Given the description of an element on the screen output the (x, y) to click on. 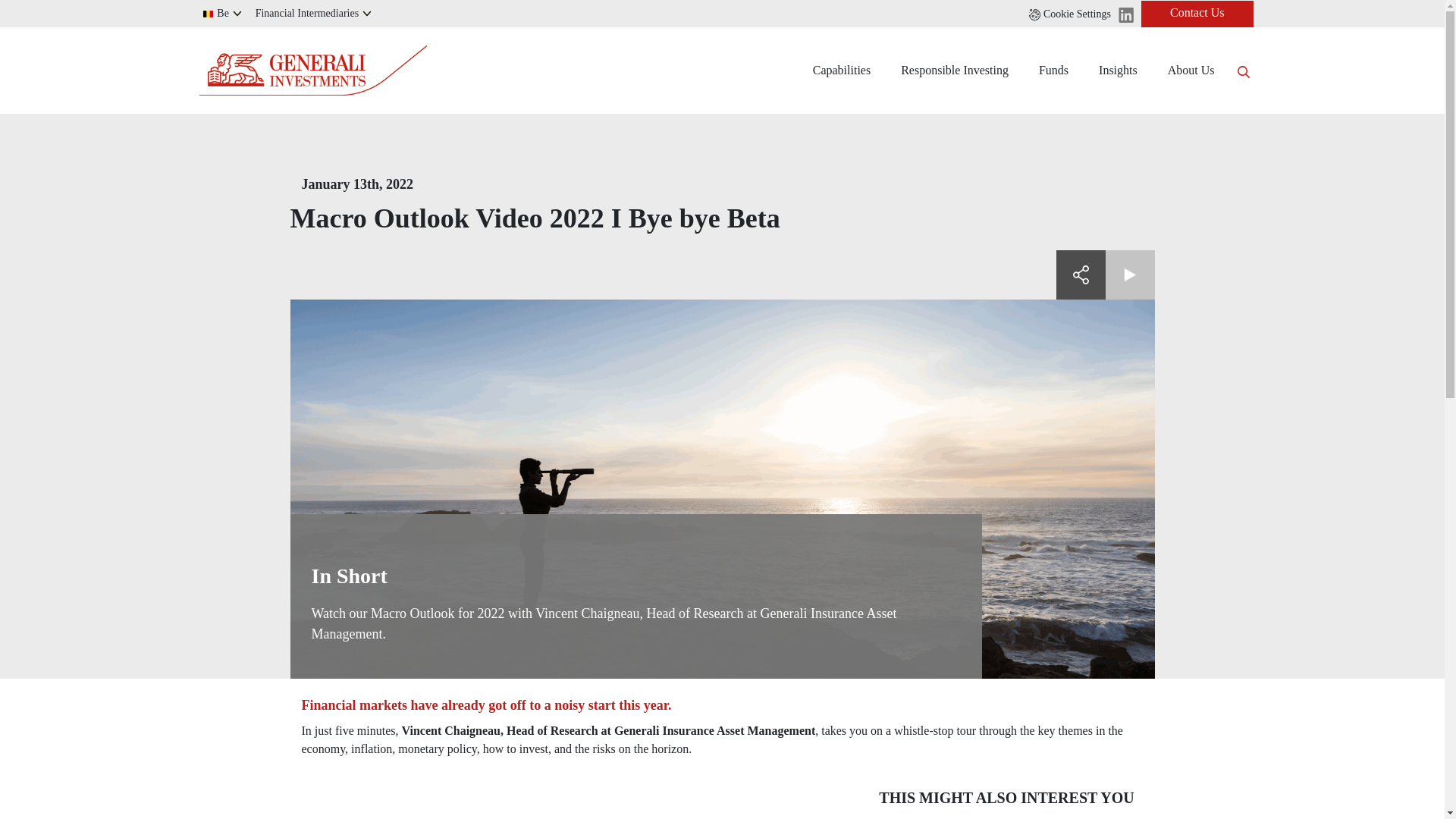
About Us (1191, 70)
Insights (1118, 70)
Contact Us (1197, 13)
Capabilities (841, 70)
Responsible Investing (954, 70)
Funds (1053, 70)
